Given the description of an element on the screen output the (x, y) to click on. 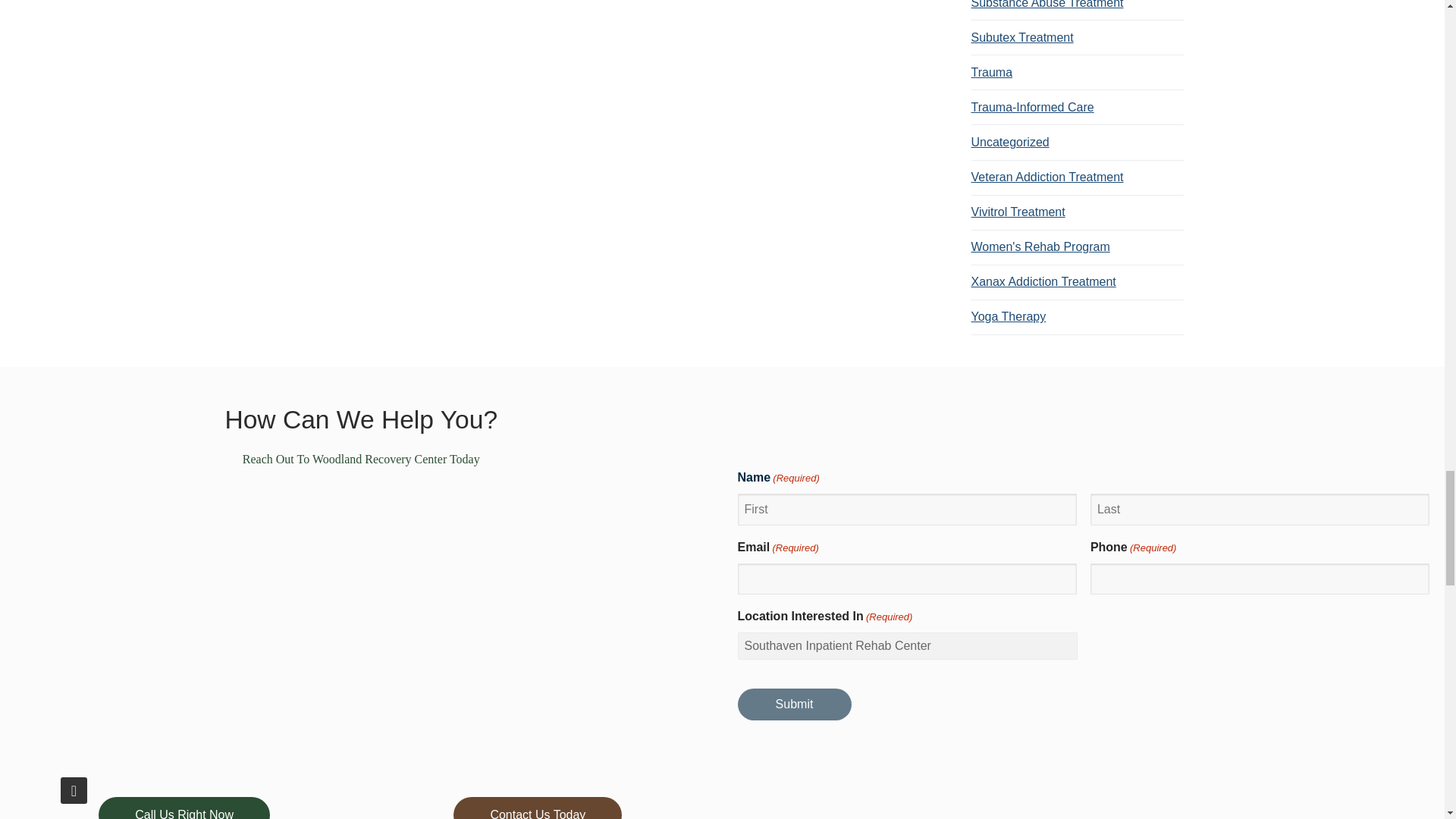
Submit (793, 704)
